Given the description of an element on the screen output the (x, y) to click on. 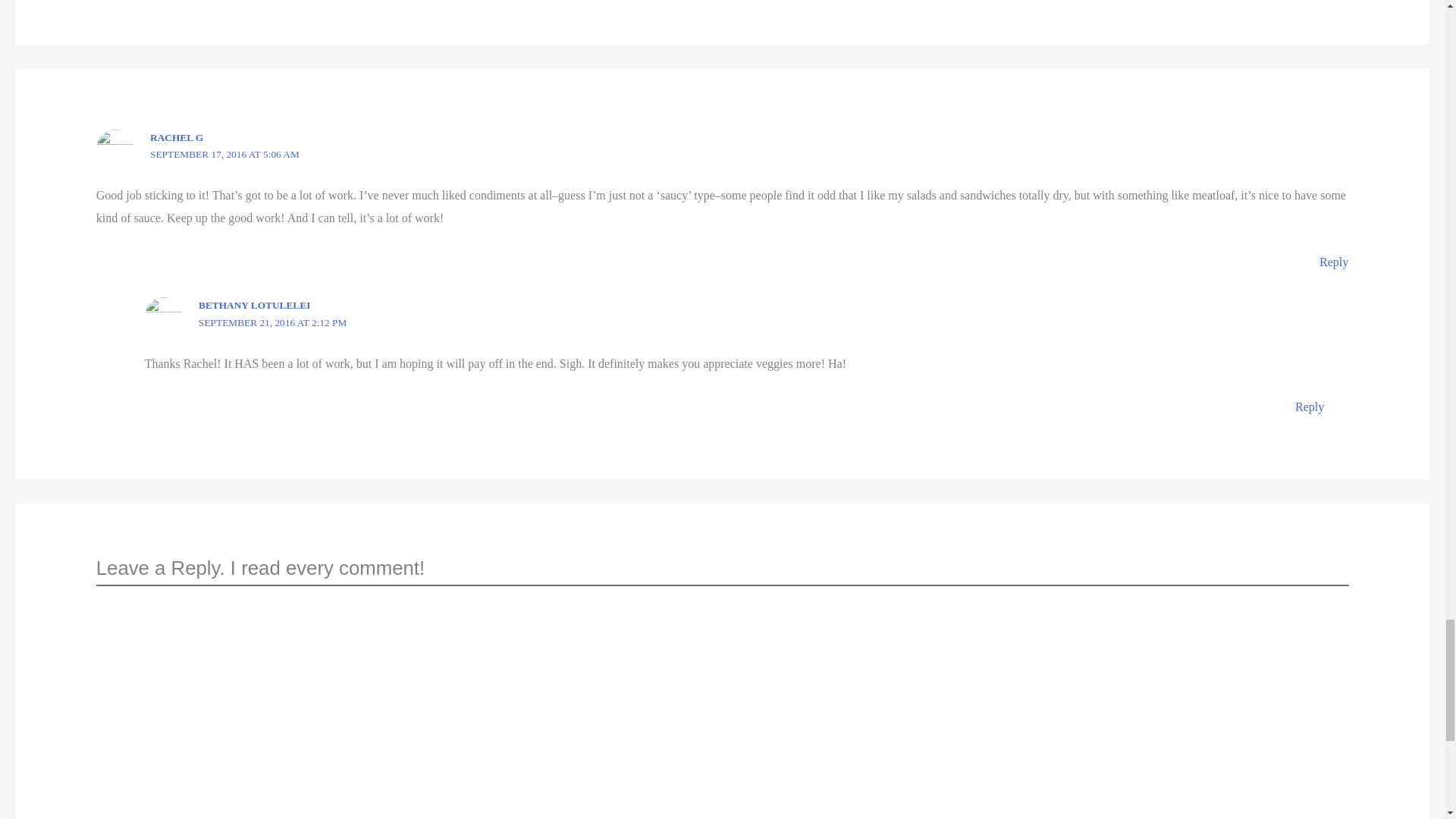
BETHANY LOTULELEI (254, 305)
SEPTEMBER 21, 2016 AT 2:12 PM (272, 322)
SEPTEMBER 17, 2016 AT 5:06 AM (224, 153)
Reply (1309, 406)
Reply (1333, 261)
RACHEL G (176, 137)
